Given the description of an element on the screen output the (x, y) to click on. 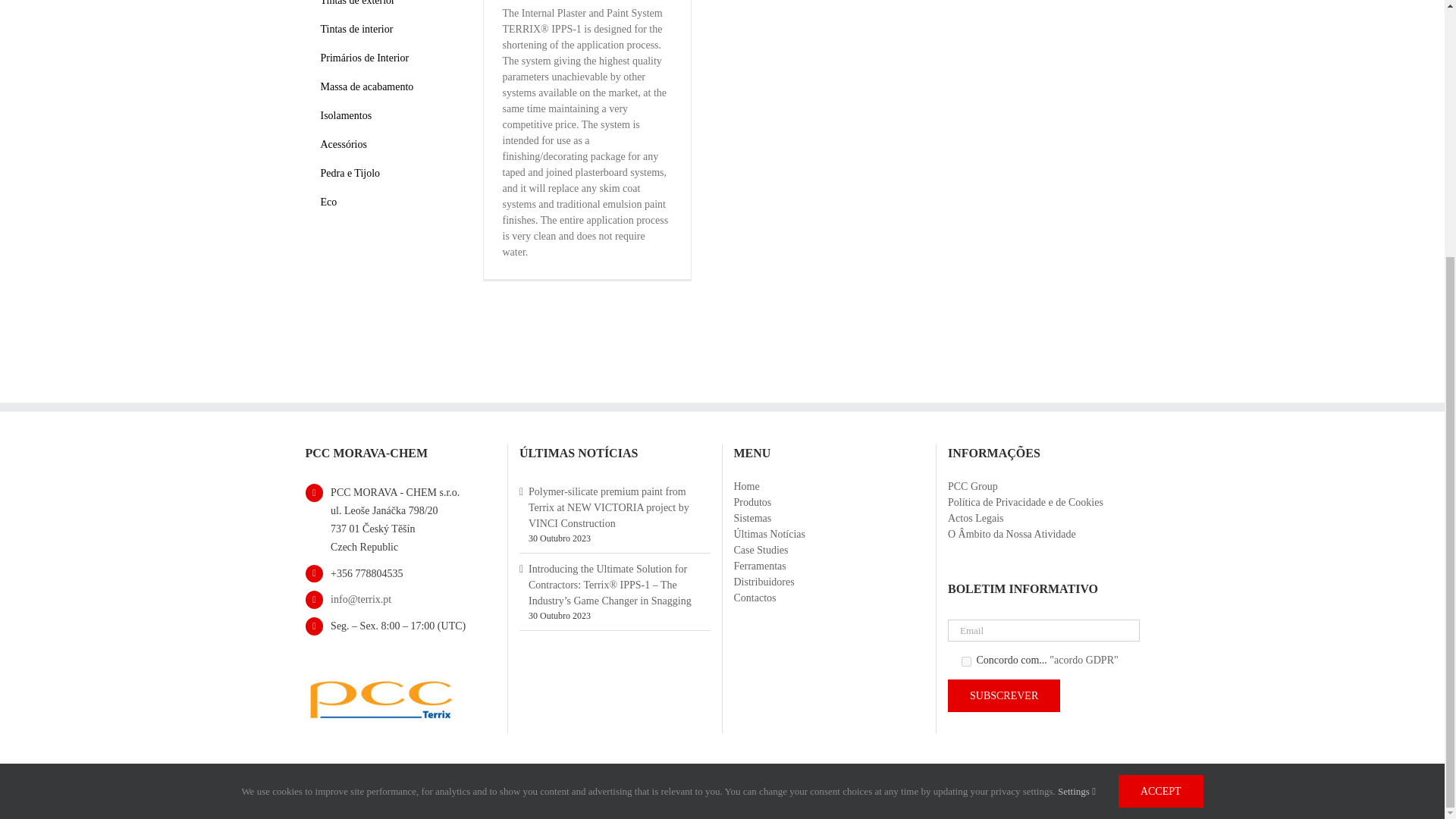
1 (965, 661)
Subscrever (1003, 695)
